Given the description of an element on the screen output the (x, y) to click on. 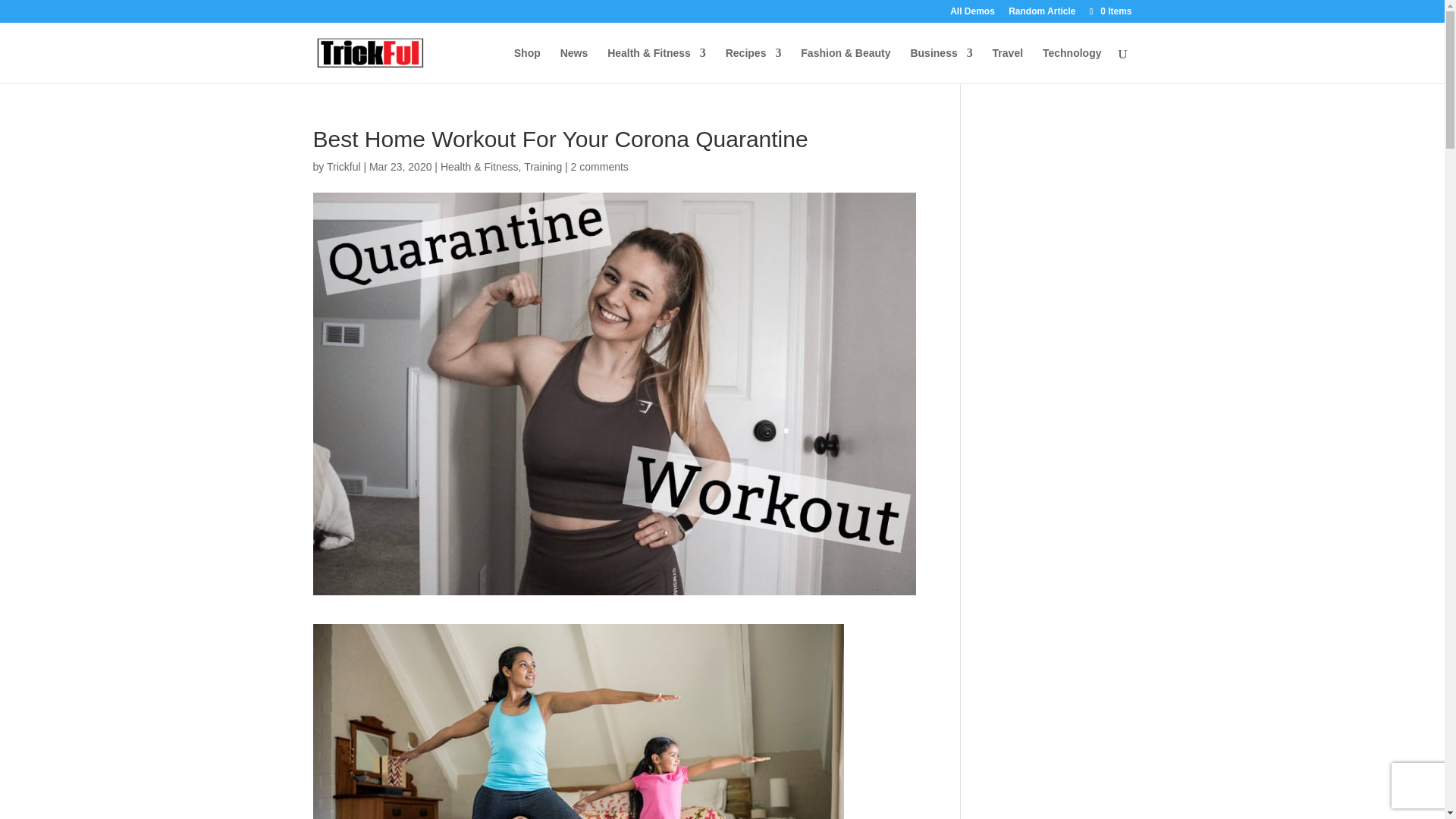
Random Article (1042, 14)
Posts by Trickful (343, 166)
0 Items (1108, 10)
Recipes (753, 65)
Business (941, 65)
All Demos (972, 14)
Technology (1072, 65)
